Given the description of an element on the screen output the (x, y) to click on. 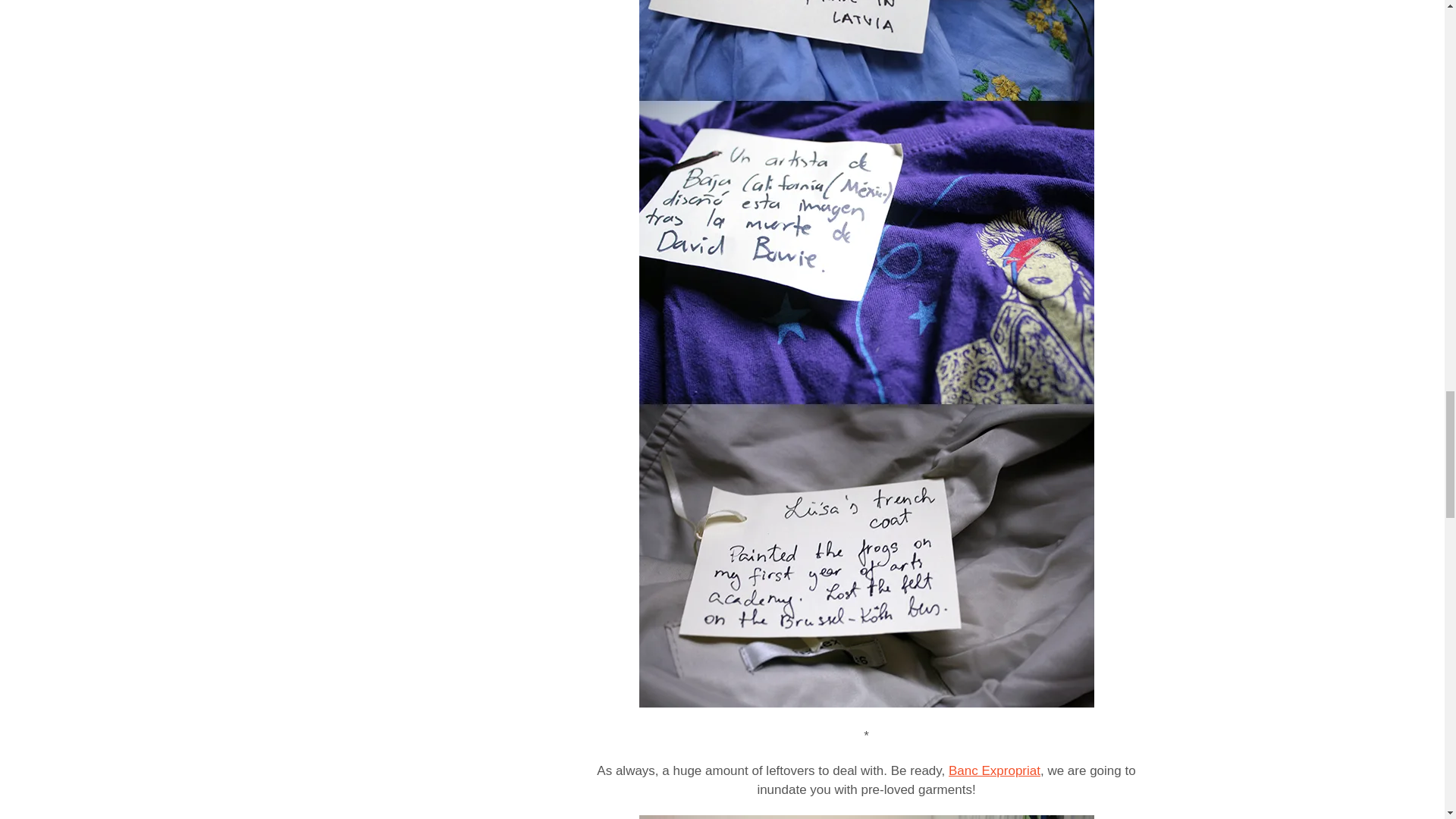
Banc Expropriat (995, 770)
